Given the description of an element on the screen output the (x, y) to click on. 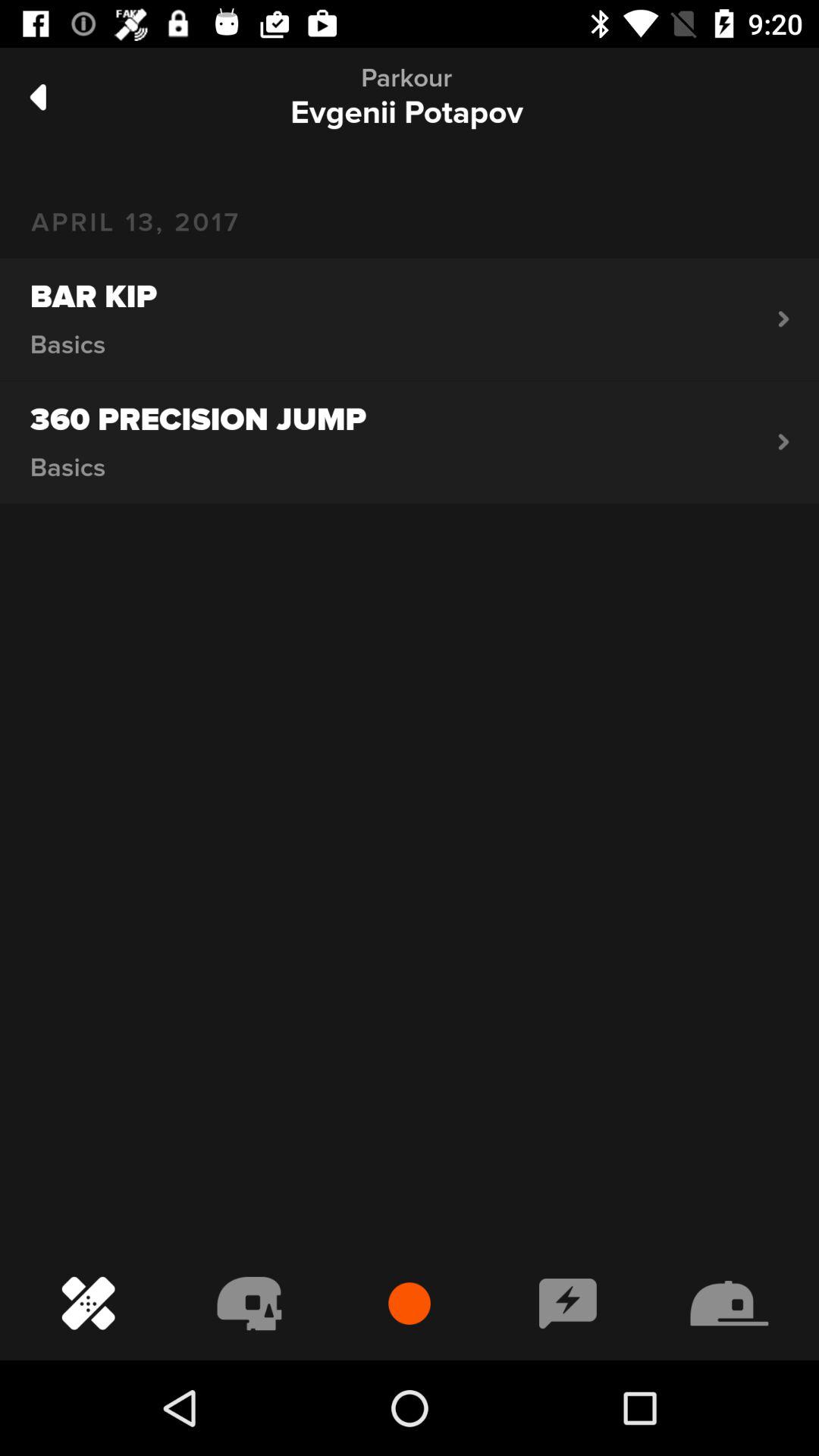
click the fourth icon on the navigation bar (568, 1303)
click the second icon on the navigation bar (249, 1303)
select the second arrow icon (783, 441)
click on the bottom left icon (88, 1303)
